Given the description of an element on the screen output the (x, y) to click on. 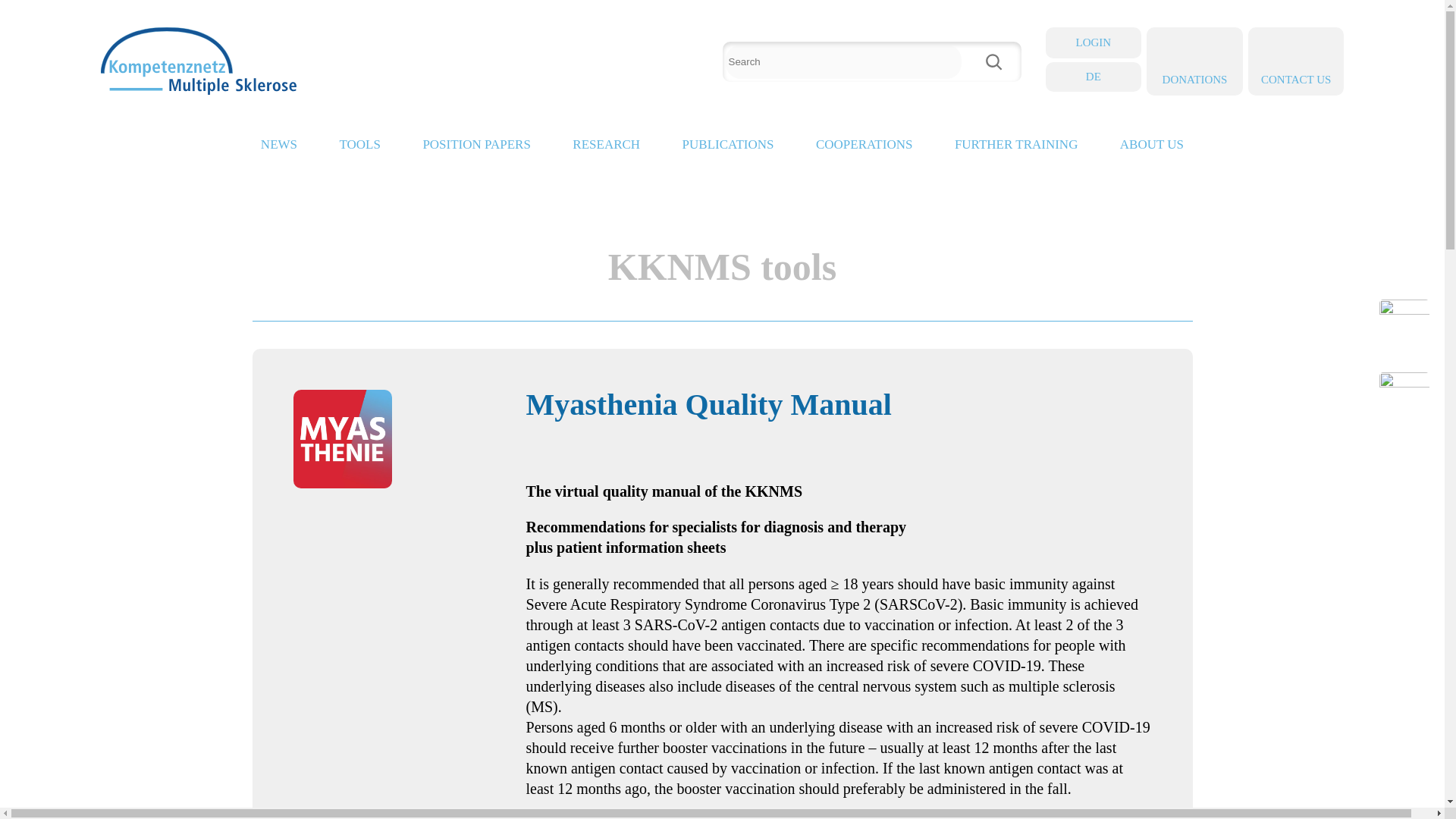
NEWS (278, 148)
PUBLICATIONS (728, 148)
POSITION PAPERS (476, 148)
TOOLS (359, 148)
ABOUT US (1151, 148)
LOGIN (1093, 42)
COOPERATIONS (863, 148)
FURTHER TRAINING (1016, 148)
CONTACT US (1295, 61)
RESEARCH (606, 148)
DE (1093, 76)
DONATIONS (1195, 61)
